Given the description of an element on the screen output the (x, y) to click on. 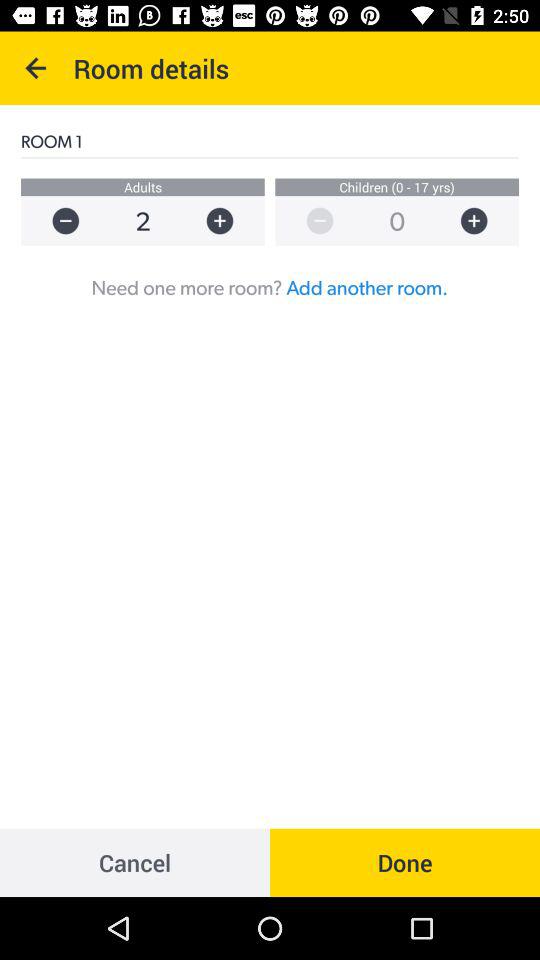
swipe to cancel item (135, 862)
